Given the description of an element on the screen output the (x, y) to click on. 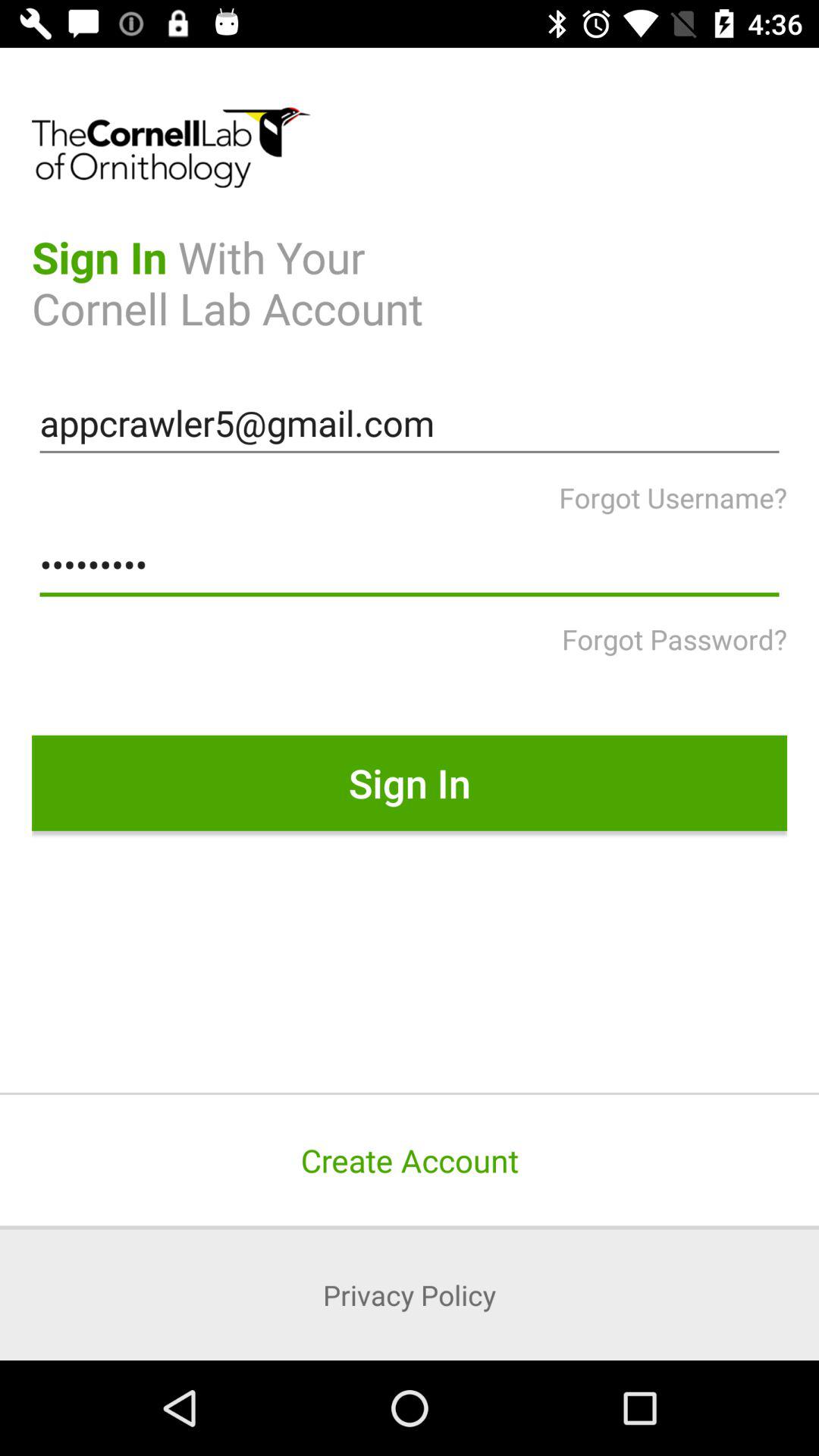
tap icon above forgot password? icon (409, 565)
